Given the description of an element on the screen output the (x, y) to click on. 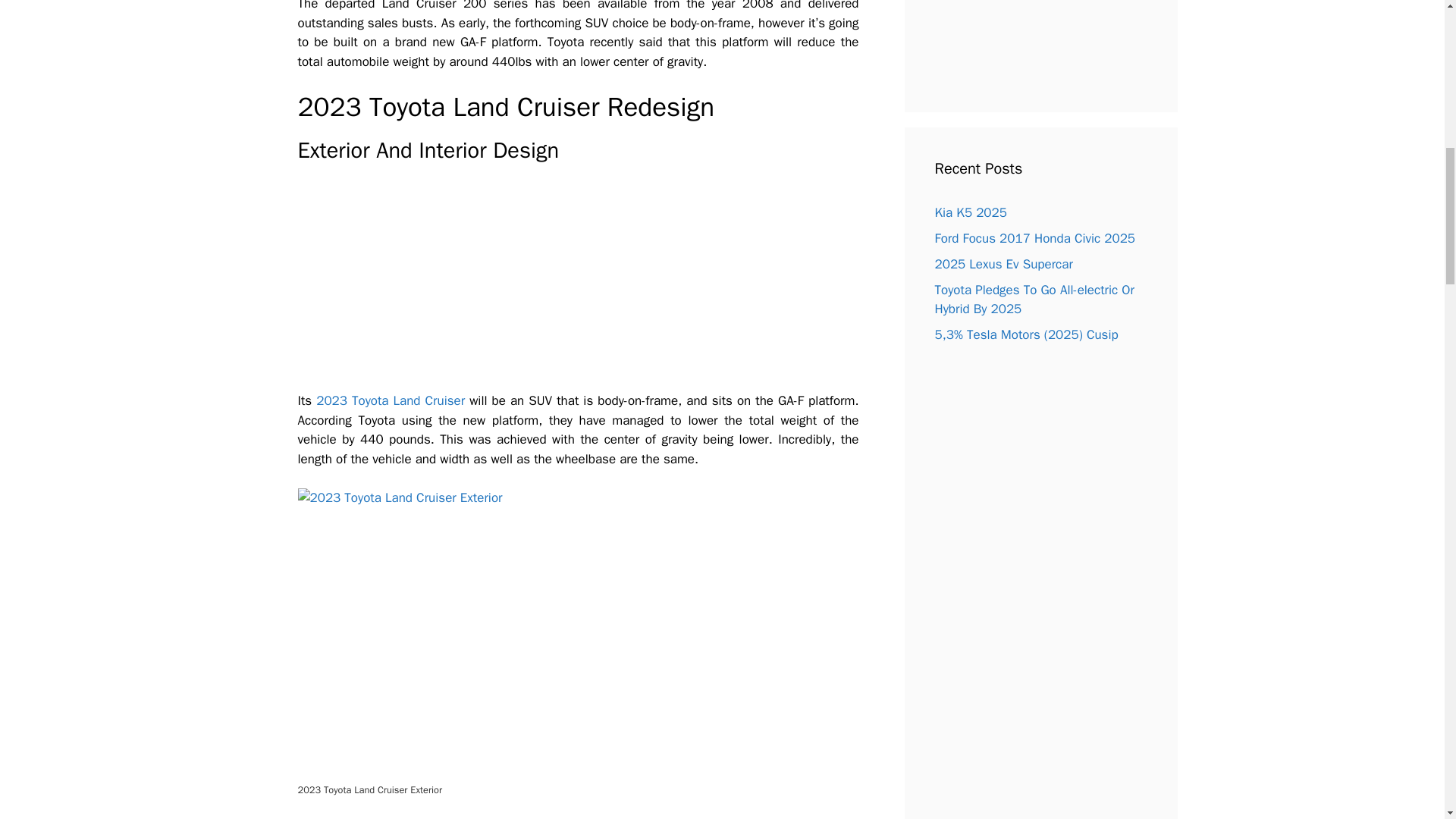
Advertisement (577, 285)
2023 Toyota Land Cruiser (389, 400)
Scroll back to top (1406, 720)
Advertisement (1013, 40)
